Given the description of an element on the screen output the (x, y) to click on. 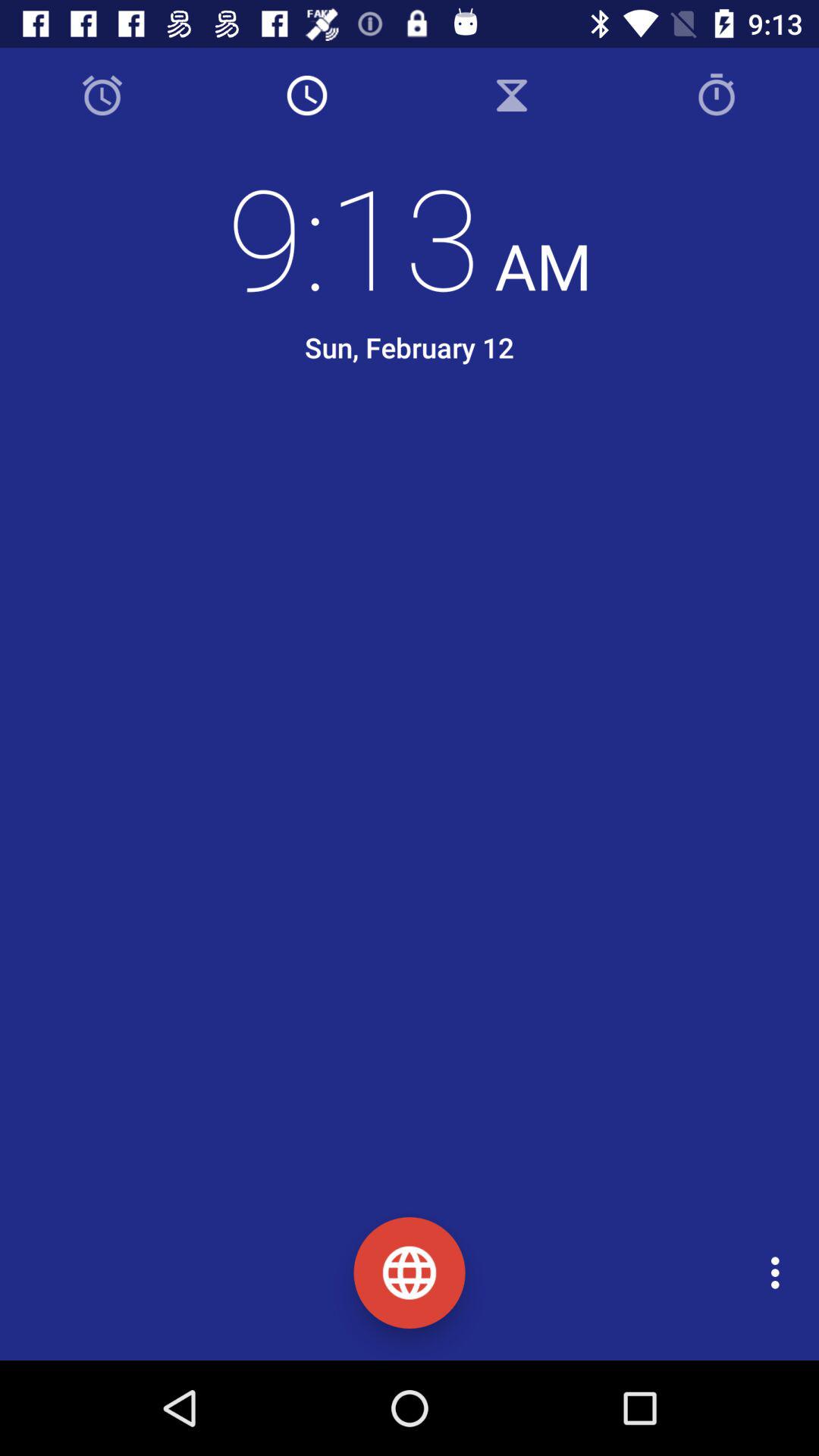
flip to sun, february 12 item (409, 347)
